Given the description of an element on the screen output the (x, y) to click on. 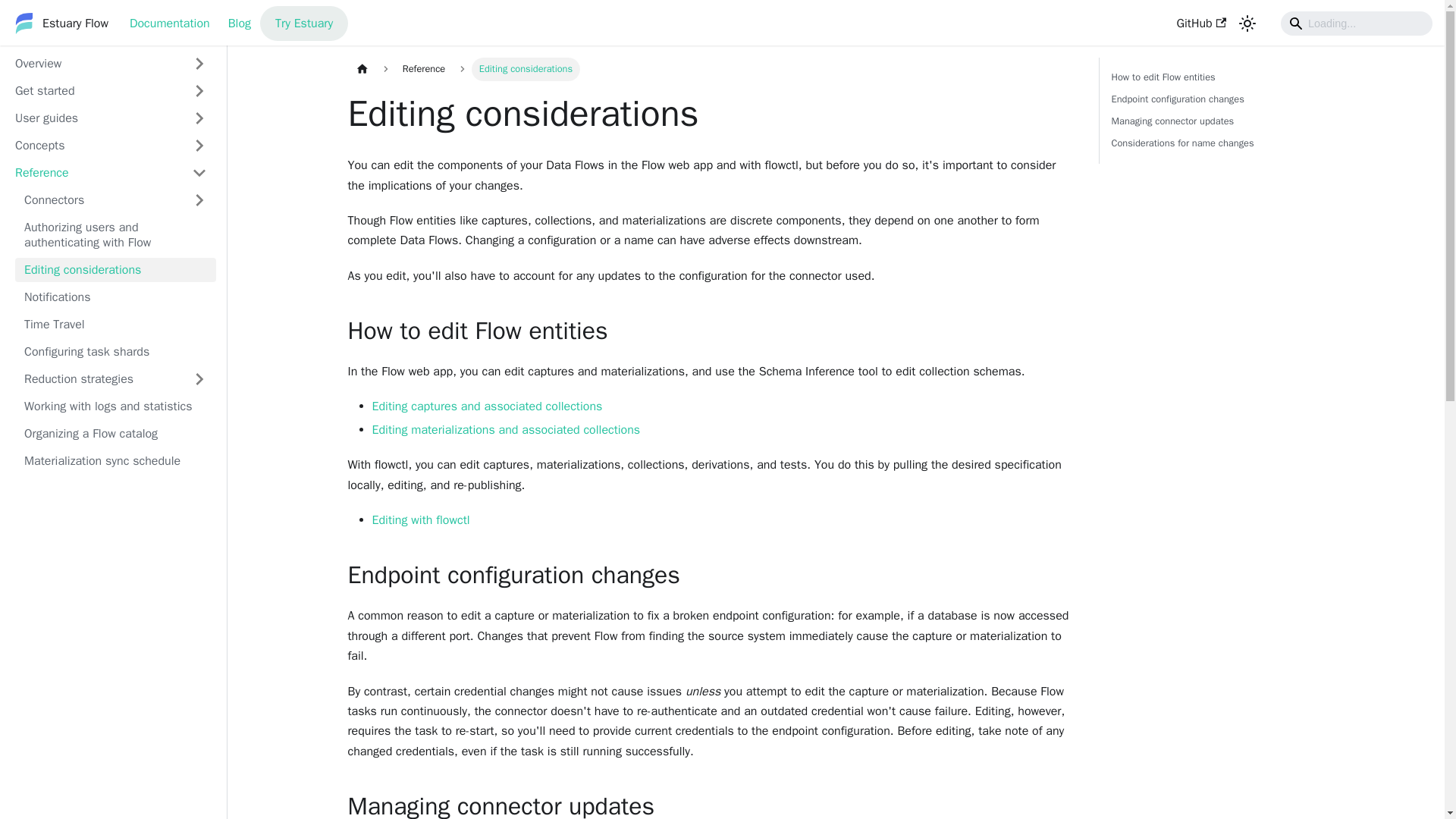
Blog (239, 23)
Materialization sync schedule (114, 460)
Editing with flowctl (419, 519)
Notifications (114, 297)
Configuring task shards (114, 351)
GitHub (1200, 23)
Try Estuary (304, 23)
Overview (94, 63)
Estuary Flow (59, 23)
Concepts (94, 145)
